Given the description of an element on the screen output the (x, y) to click on. 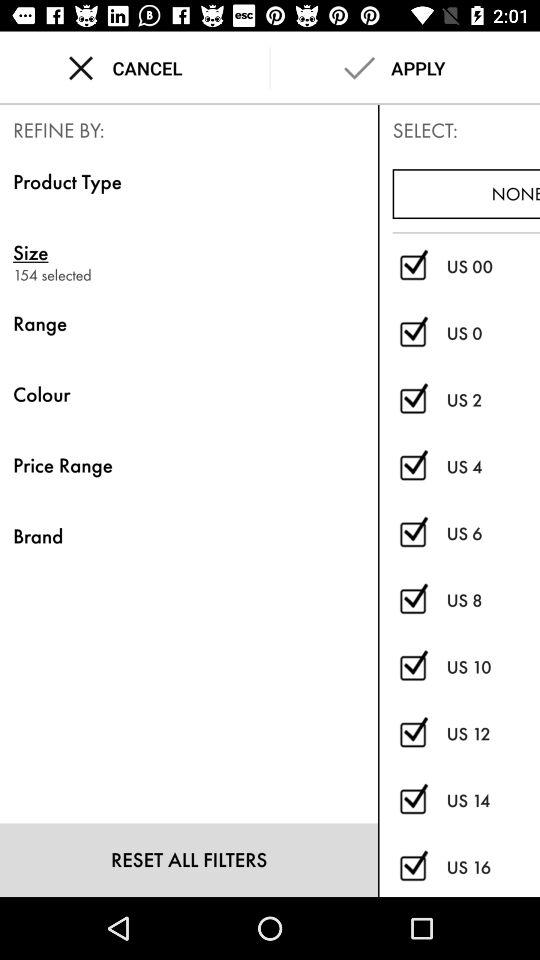
deselect us 8 (412, 600)
